Given the description of an element on the screen output the (x, y) to click on. 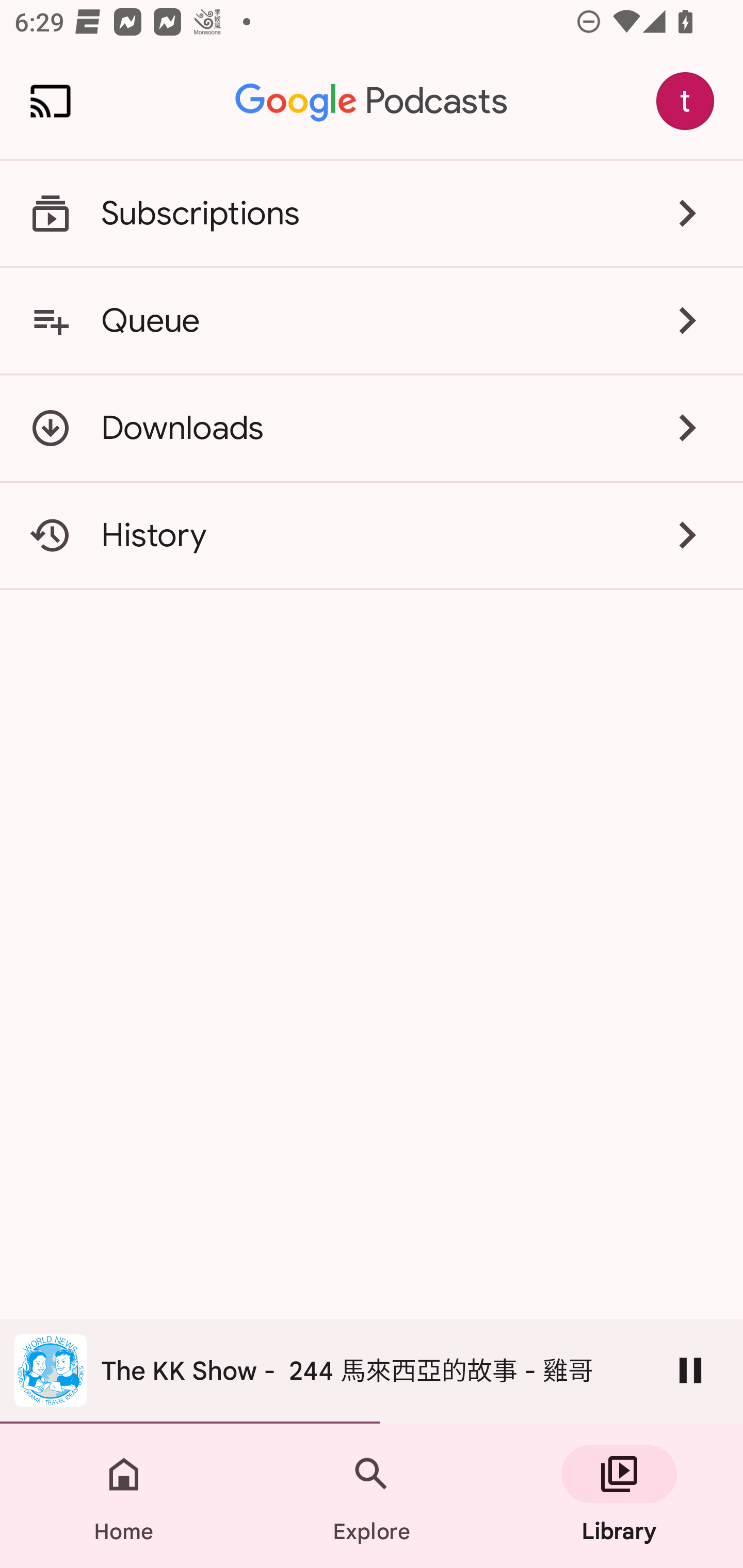
Cast. Disconnected (50, 101)
Subscriptions (371, 213)
Queue (371, 320)
Downloads (371, 427)
History (371, 535)
Pause (690, 1370)
Home (123, 1495)
Explore (371, 1495)
